Given the description of an element on the screen output the (x, y) to click on. 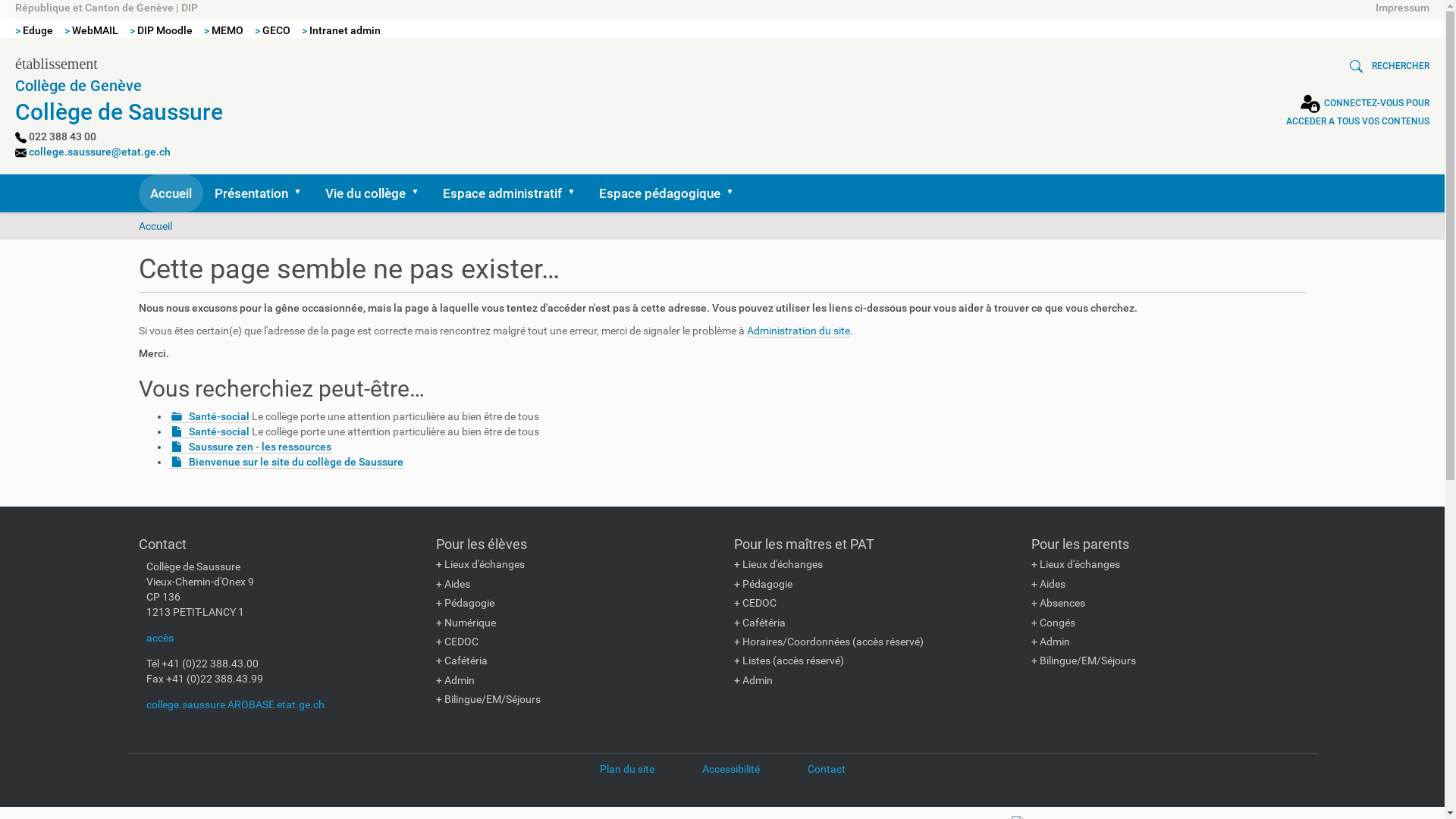
Espace administratif Element type: text (508, 193)
> Eduge Element type: text (34, 30)
Accueil Element type: text (170, 193)
RECHERCHER Element type: text (1386, 65)
Contact Element type: text (825, 768)
> DIP Moodle Element type: text (160, 30)
> WebMAIL Element type: text (91, 30)
Accueil Element type: text (154, 225)
> Intranet admin Element type: text (340, 30)
> GECO Element type: text (272, 30)
> MEMO Element type: text (223, 30)
Plan du site Element type: text (626, 768)
Saussure zen - les ressources Element type: text (249, 446)
Administration du site Element type: text (797, 330)
Impressum Element type: text (1402, 7)
DIP Element type: text (189, 7)
college.saussure@etat.ge.ch Element type: text (99, 151)
college.saussure AROBASE etat.ge.ch Element type: text (234, 704)
CONNECTEZ-VOUS POUR
ACCEDER A TOUS VOS CONTENUS Element type: text (1357, 111)
